Given the description of an element on the screen output the (x, y) to click on. 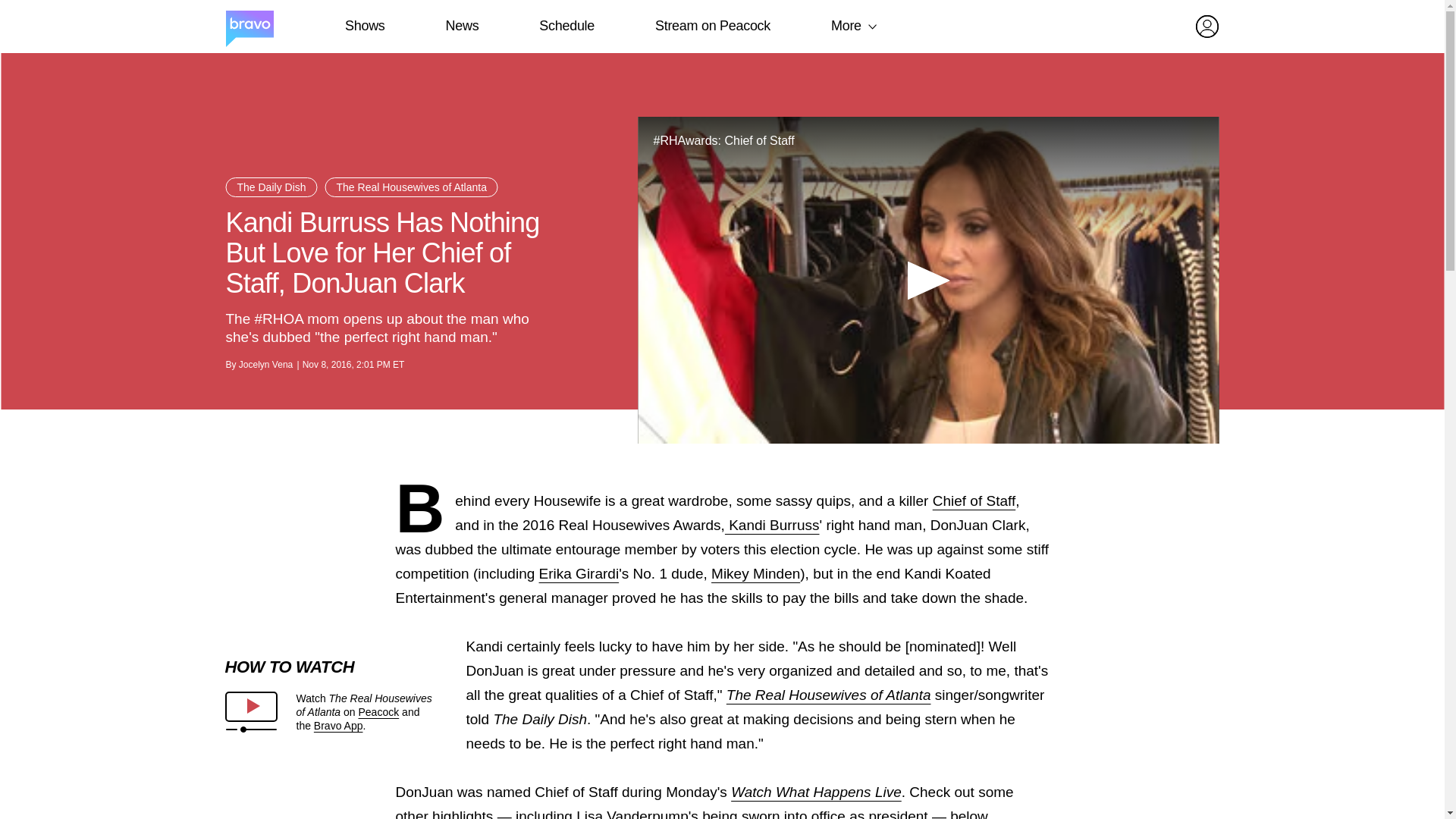
Jocelyn Vena (265, 364)
Erika Girardi (579, 573)
Schedule (566, 26)
Stream on Peacock (712, 26)
The Real Housewives of Atlanta (828, 694)
The Real Housewives of Atlanta (410, 187)
More (846, 26)
Peacock (378, 711)
News (462, 26)
Bravo App (338, 725)
The Daily Dish (271, 187)
Mikey Minden (755, 573)
Lisa Vanderpump (632, 813)
Chief of Staff (974, 500)
Home (249, 26)
